Given the description of an element on the screen output the (x, y) to click on. 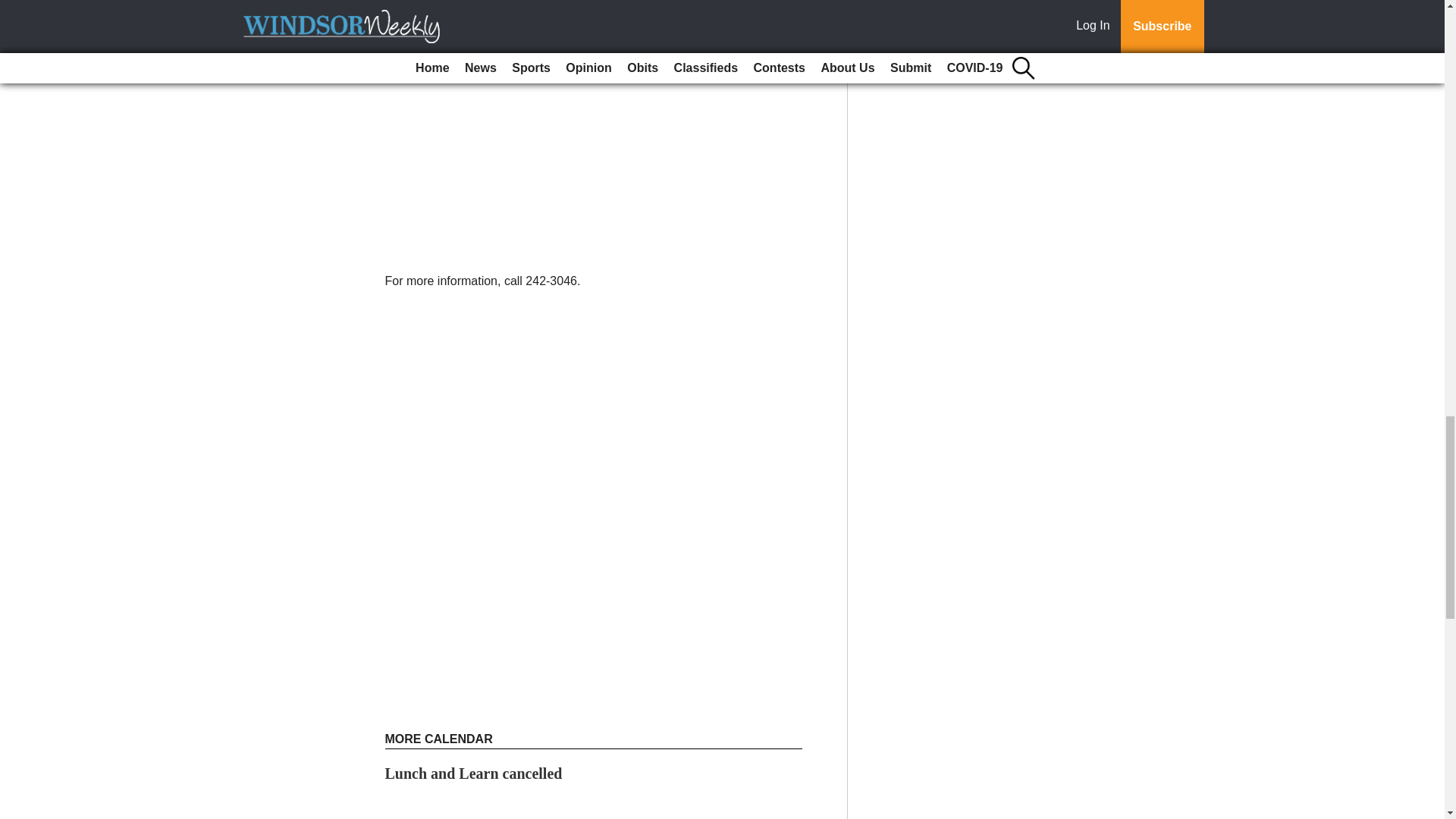
Community Happenings (464, 817)
Community Happenings (464, 817)
Lunch and Learn cancelled (473, 773)
Lunch and Learn cancelled (473, 773)
